Given the description of an element on the screen output the (x, y) to click on. 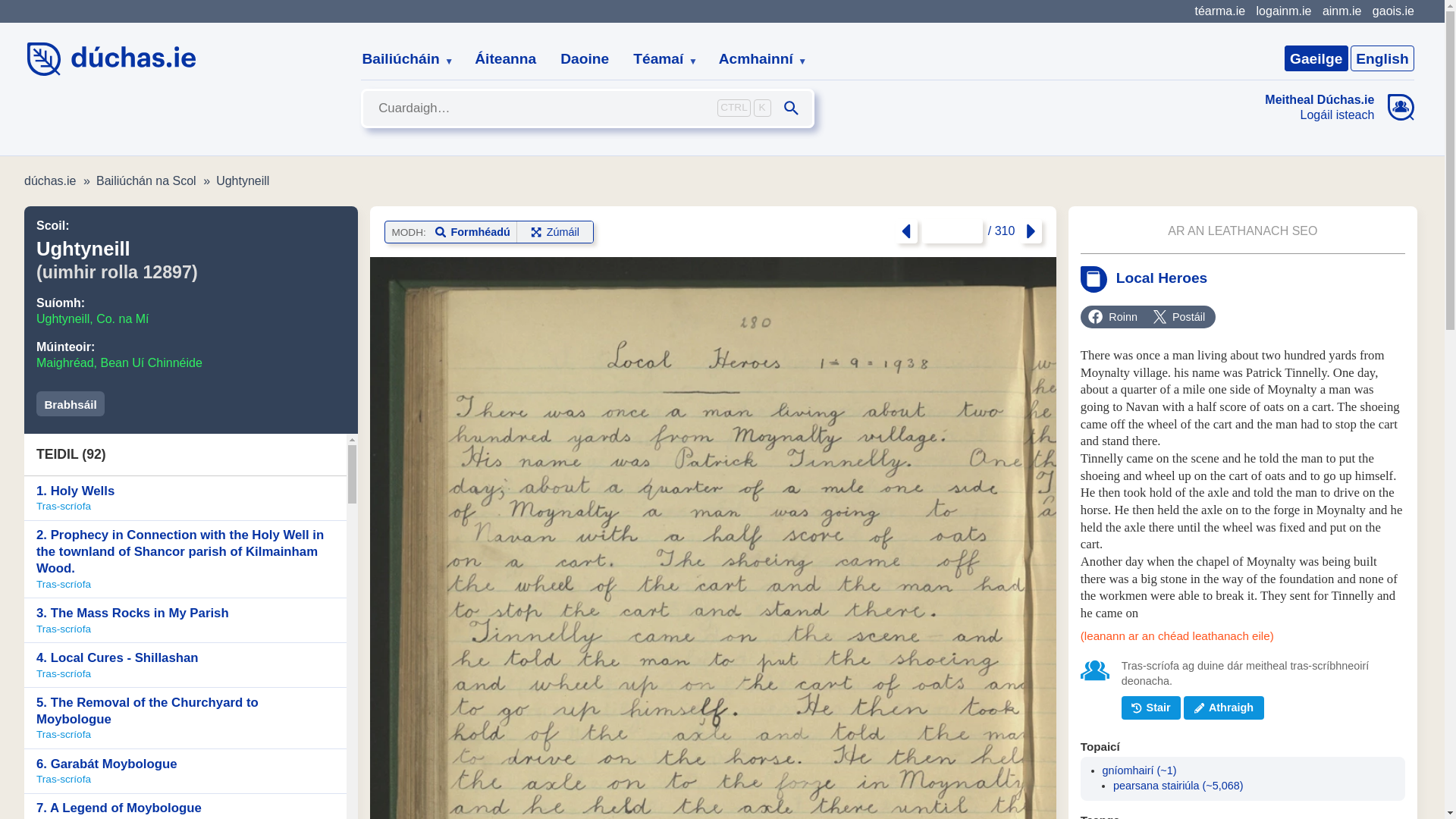
Daoine (584, 58)
Gaeilge (1316, 58)
Ughtyneill (242, 180)
gaois.ie (1393, 11)
logainm.ie (1283, 11)
English (1382, 58)
ainm.ie (1341, 11)
